Given the description of an element on the screen output the (x, y) to click on. 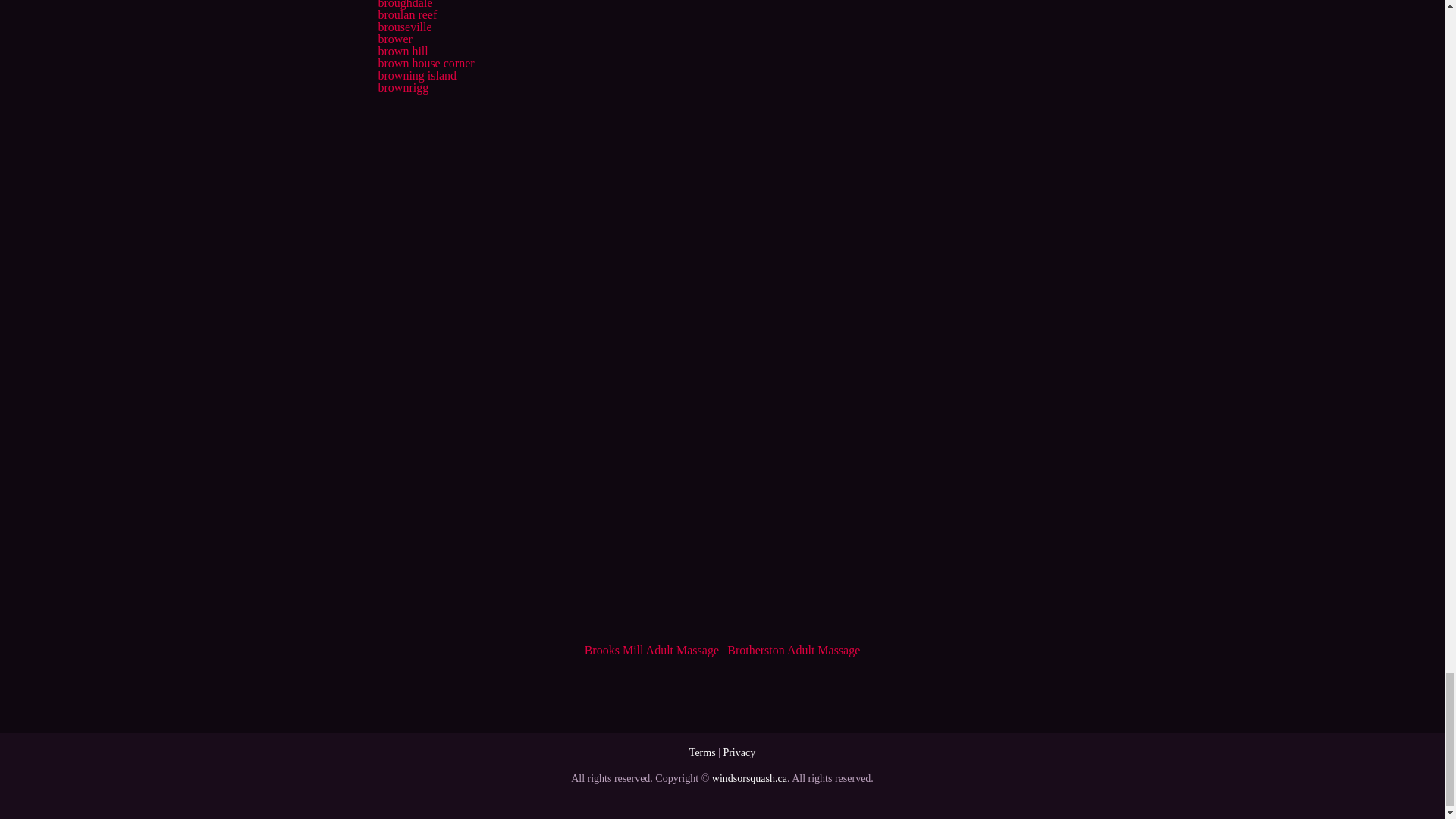
brownrigg (402, 87)
brower (394, 38)
brouseville (403, 26)
broulan reef (406, 14)
brown hill (402, 51)
Privacy (738, 752)
Brotherston Adult Massage (793, 649)
browning island (417, 74)
brown house corner (425, 62)
windsorsquash.ca (749, 778)
Terms (702, 752)
Privacy (738, 752)
Terms (702, 752)
broughdale (404, 4)
Brooks Mill Adult Massage (652, 649)
